Given the description of an element on the screen output the (x, y) to click on. 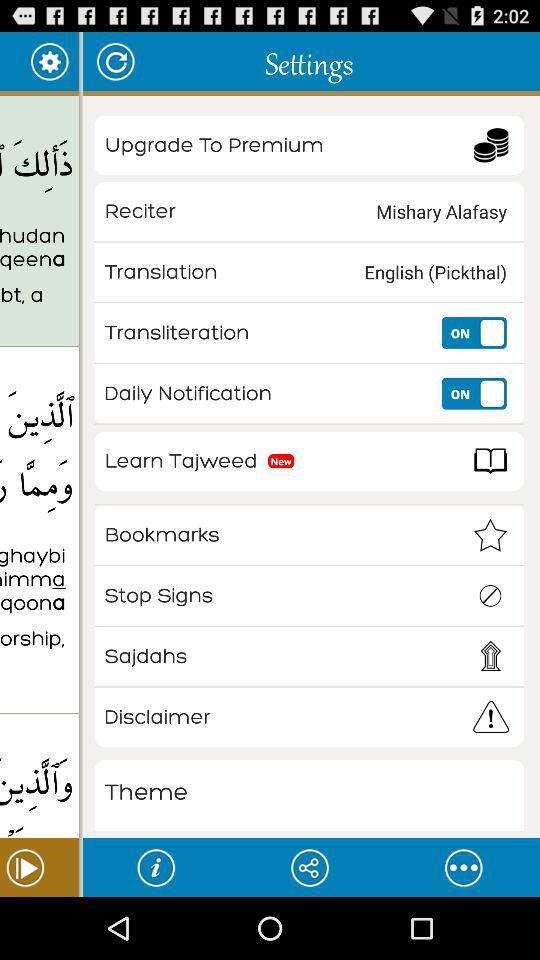
scroll to allatheena yuminoona bialghaybi icon (39, 579)
